Given the description of an element on the screen output the (x, y) to click on. 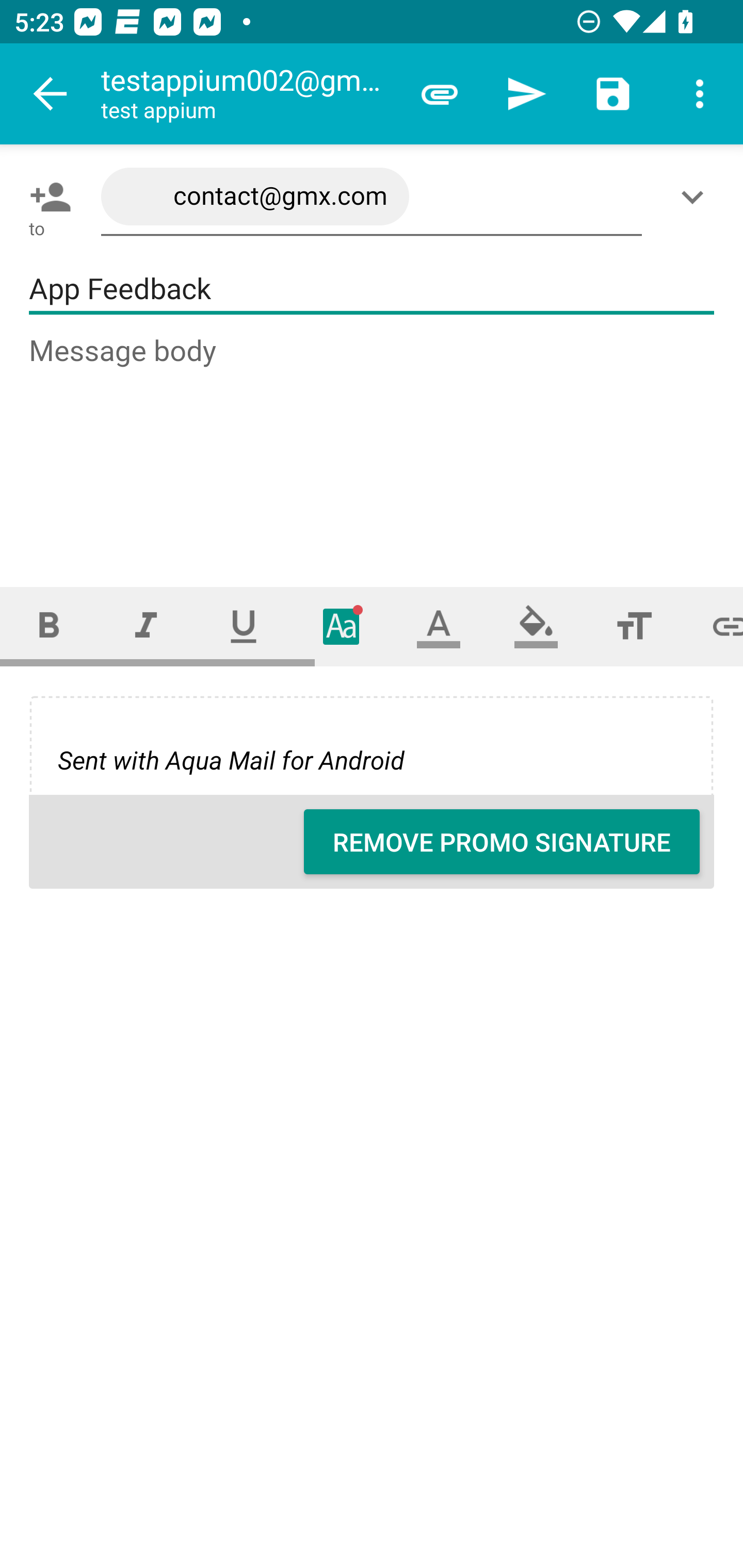
Navigate up (50, 93)
testappium002@gmail.com test appium (248, 93)
Attach (439, 93)
Send (525, 93)
Save (612, 93)
More options (699, 93)
contact@gmx.com,  (371, 197)
Pick contact: To (46, 196)
Show/Add CC/BCC (696, 196)
App Feedback (371, 288)
Message body (372, 442)
Bold (48, 626)
Italic (145, 626)
Underline (243, 626)
Typeface (font) (341, 626)
Text color (438, 626)
Fill color (536, 626)
Font size (633, 626)
Set link (712, 626)
REMOVE PROMO SIGNATURE (501, 841)
